Given the description of an element on the screen output the (x, y) to click on. 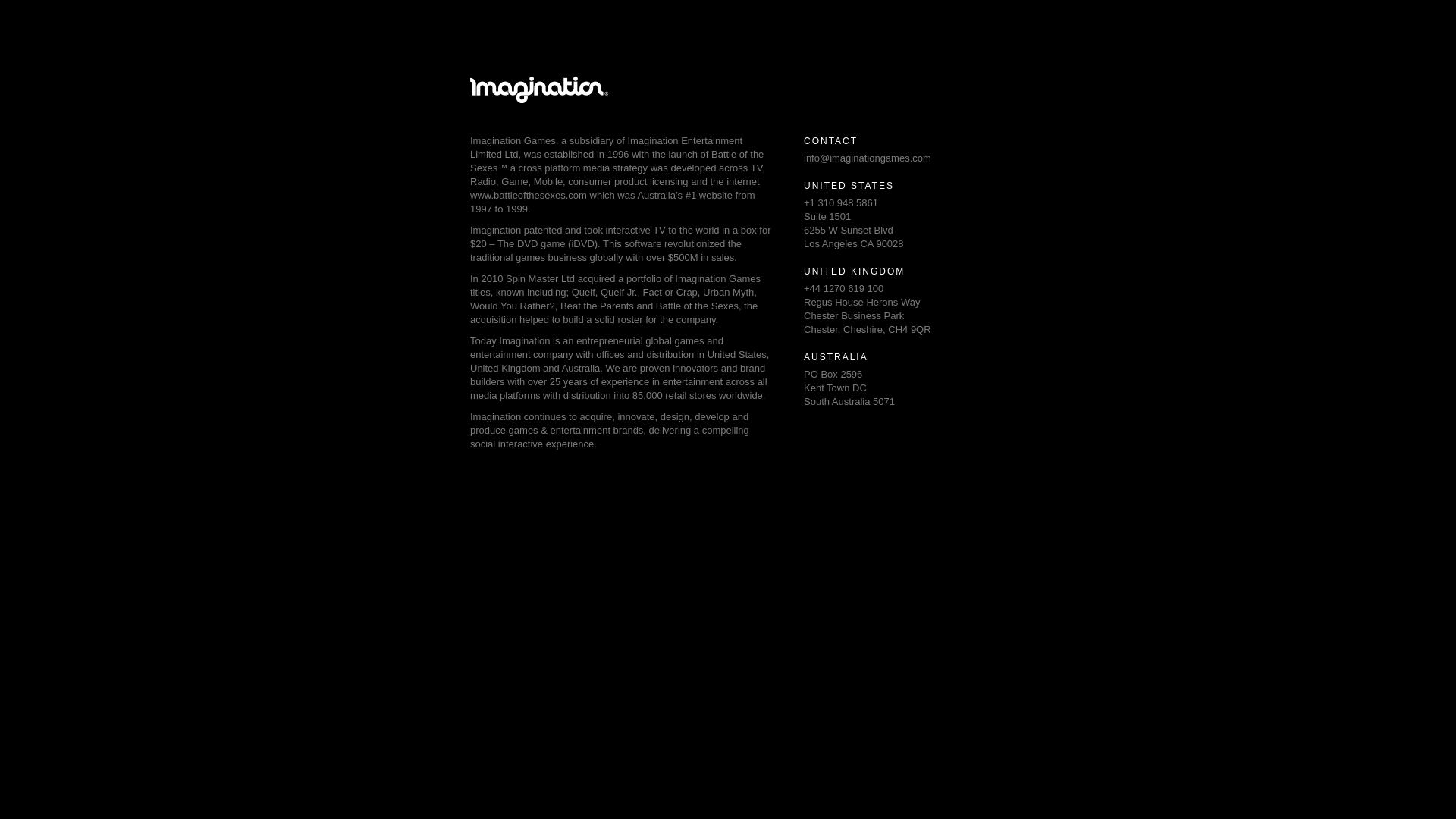
info@imaginationgames.com Element type: text (867, 157)
